Given the description of an element on the screen output the (x, y) to click on. 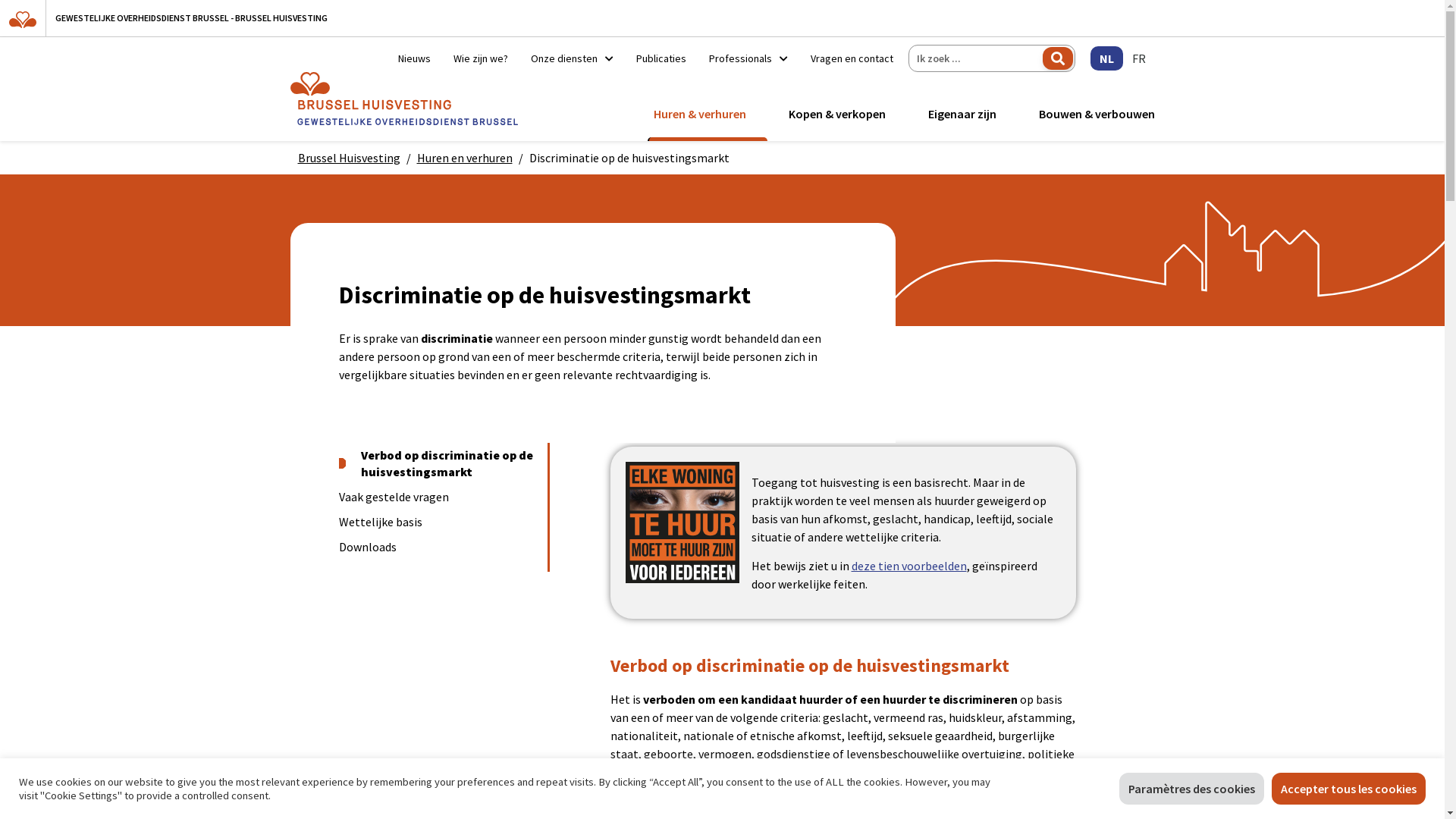
Huren en verhuren Element type: text (464, 157)
Brussel Huisvesting Element type: text (348, 157)
Verbod op discriminatie op de huisvestingsmarkt Element type: text (436, 463)
Vragen en contact Element type: text (846, 58)
Wettelijke basis Element type: text (436, 521)
Nieuws Element type: text (414, 58)
Downloads Element type: text (436, 546)
Bouwen & verbouwen Element type: text (1093, 113)
Publicaties Element type: text (660, 58)
Professionals Element type: text (748, 58)
Zoeken Element type: text (1056, 58)
deze tien voorbeelden Element type: text (908, 565)
NL Element type: text (1106, 58)
Eigenaar zijn Element type: text (962, 113)
Huren & verhuren Element type: text (699, 113)
FR Element type: text (1138, 58)
Onze diensten Element type: text (571, 58)
Wie zijn we? Element type: text (479, 58)
Kopen & verkopen Element type: text (836, 113)
Accepter tous les cookies Element type: text (1348, 788)
Vaak gestelde vragen Element type: text (436, 496)
